Given the description of an element on the screen output the (x, y) to click on. 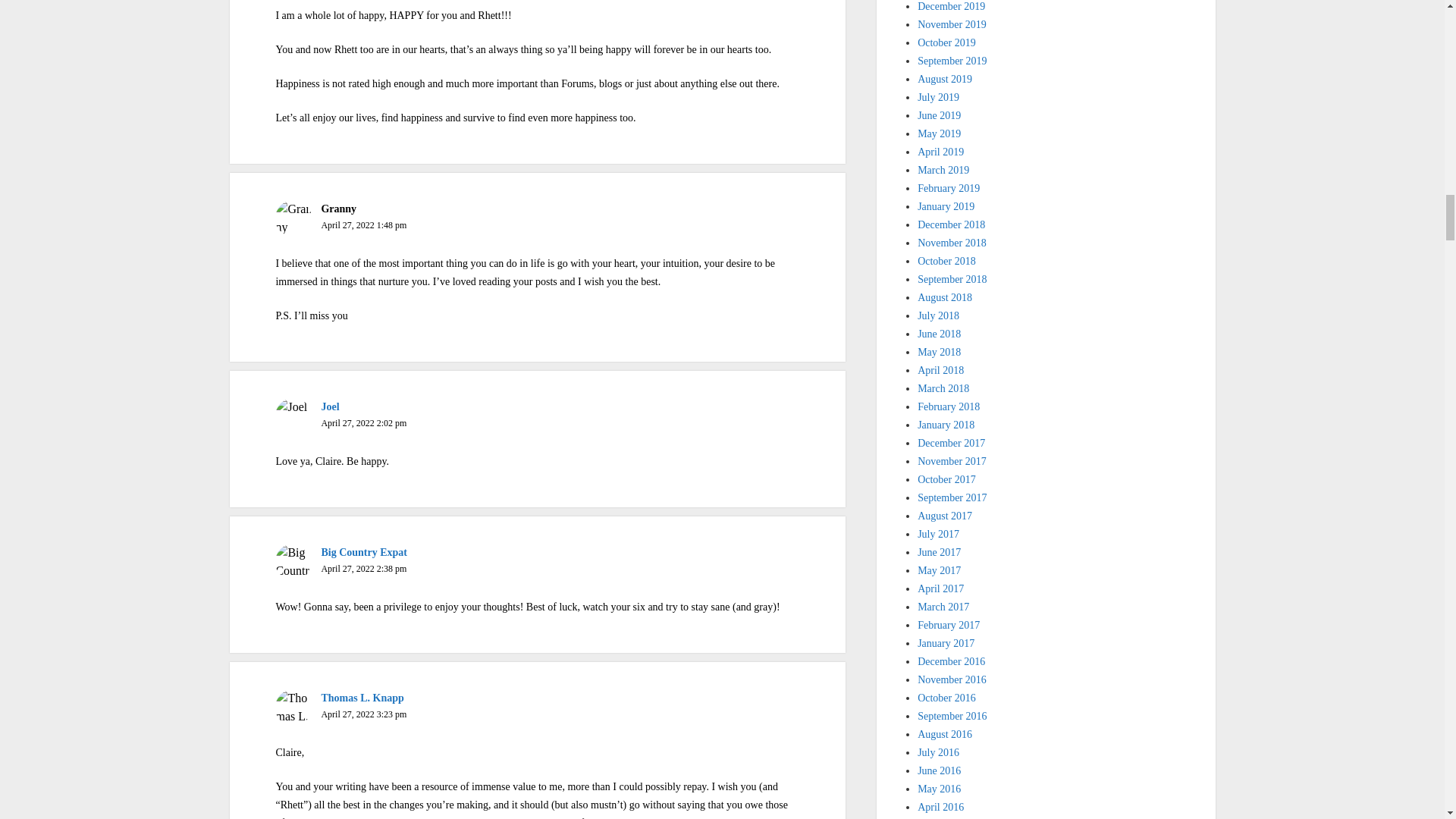
Big Country Expat (363, 552)
Joel (329, 406)
Thomas L. Knapp (361, 697)
